Given the description of an element on the screen output the (x, y) to click on. 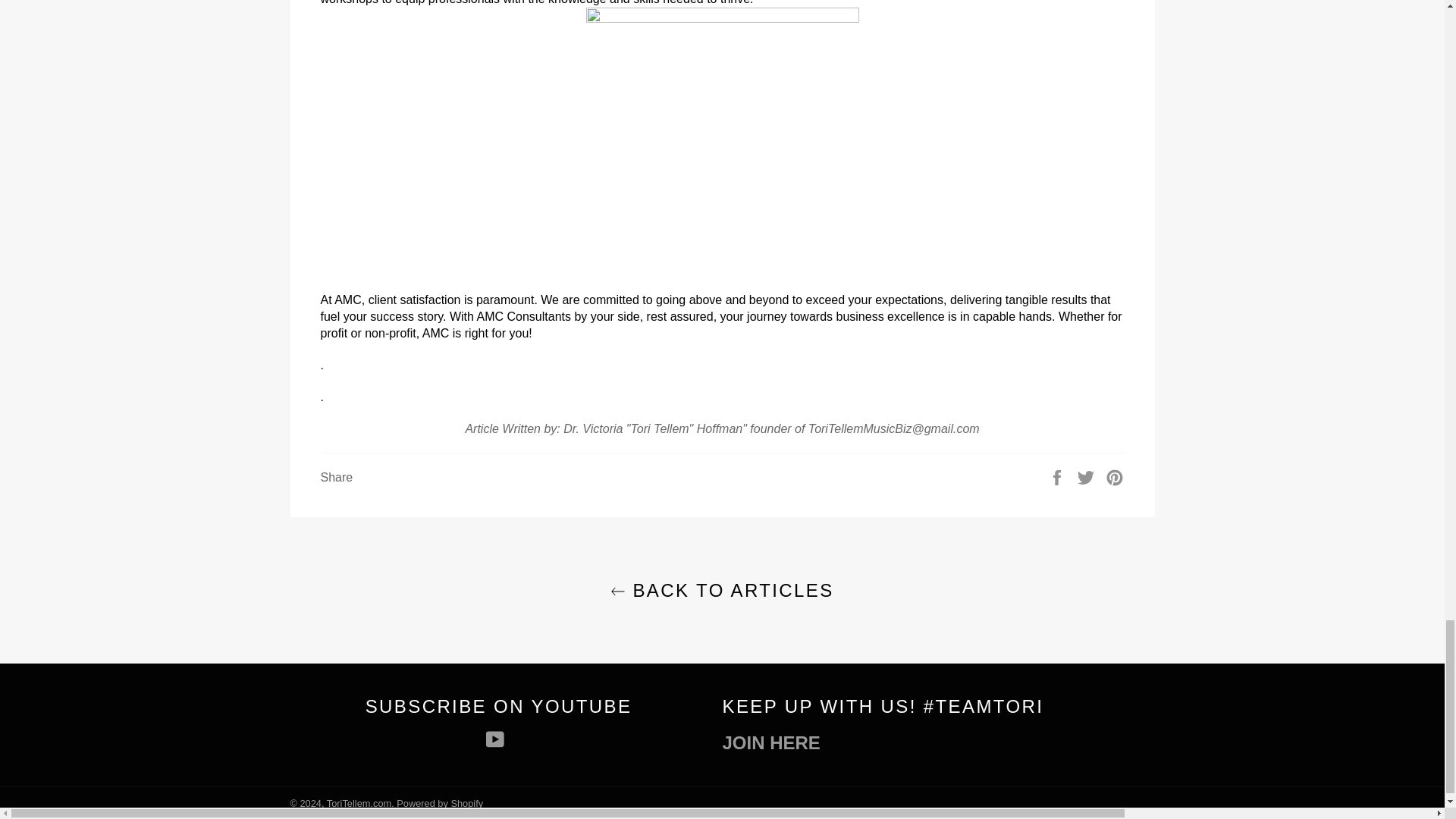
YouTube (497, 739)
BACK TO ARTICLES (721, 590)
Share on Facebook (1058, 476)
Tweet on Twitter (1087, 476)
Share on Facebook (1058, 476)
Pin on Pinterest (1114, 476)
ToriTellem.com on YouTube (497, 739)
Pin on Pinterest (1114, 476)
Tweet on Twitter (1087, 476)
JOIN HERE (770, 742)
